Given the description of an element on the screen output the (x, y) to click on. 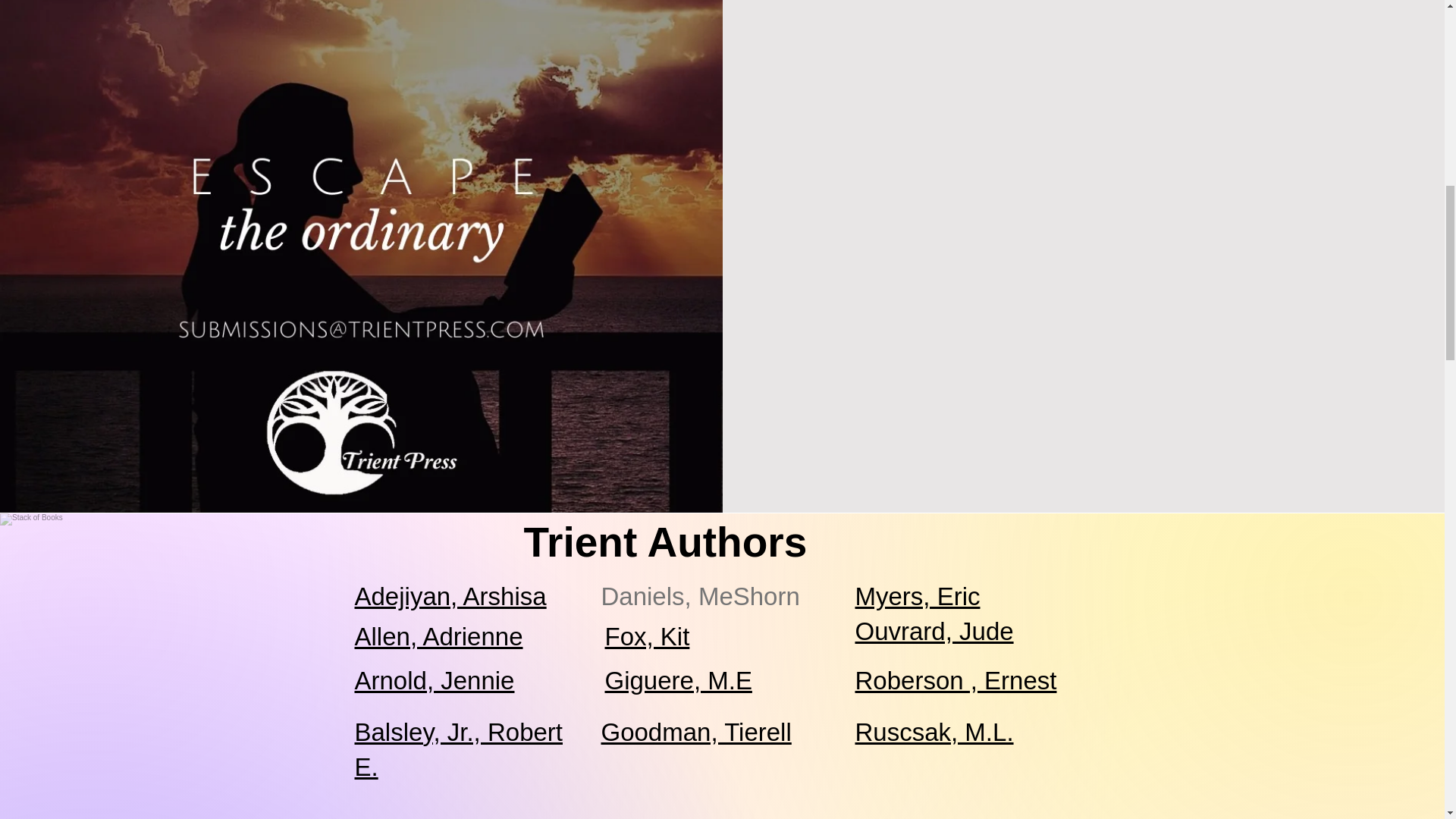
Myers, Eric (917, 596)
Giguere, M.E (678, 680)
Roberson , Ernest (956, 680)
Balsley, Jr., Robert E. (459, 749)
Arnold, Jennie (435, 680)
Adejiyan, Arshisa (451, 596)
Ouvrard, Jude (934, 631)
Ruscsak, M.L. (934, 732)
Fox, Kit (647, 636)
Allen, Adrienne (438, 636)
